Given the description of an element on the screen output the (x, y) to click on. 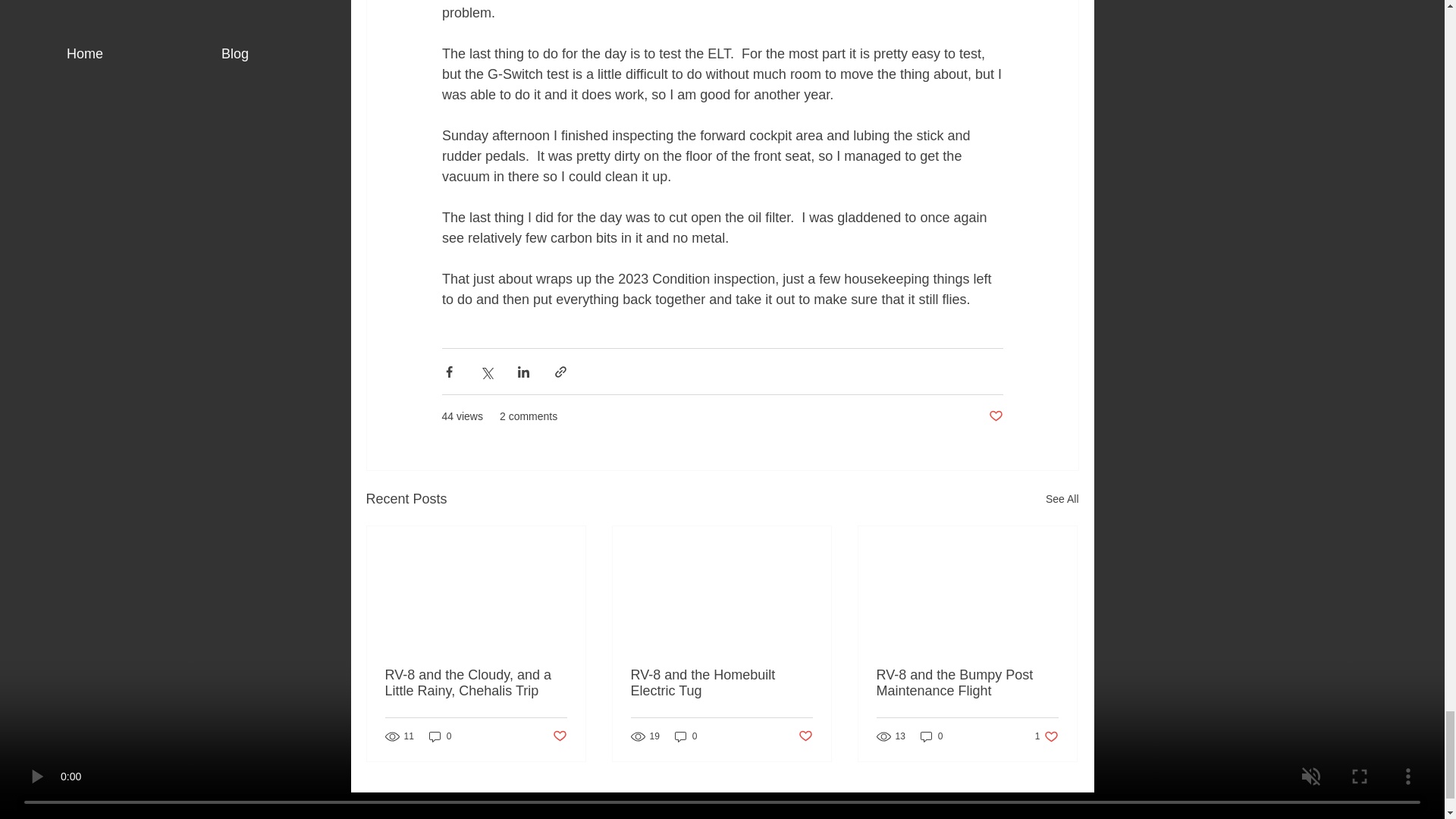
0 (440, 736)
RV-8 and the Homebuilt Electric Tug (1046, 736)
Post not marked as liked (721, 683)
0 (804, 736)
RV-8 and the Cloudy, and a Little Rainy, Chehalis Trip (931, 736)
Post not marked as liked (476, 683)
See All (558, 736)
Post not marked as liked (1061, 499)
RV-8 and the Bumpy Post Maintenance Flight (995, 416)
